Given the description of an element on the screen output the (x, y) to click on. 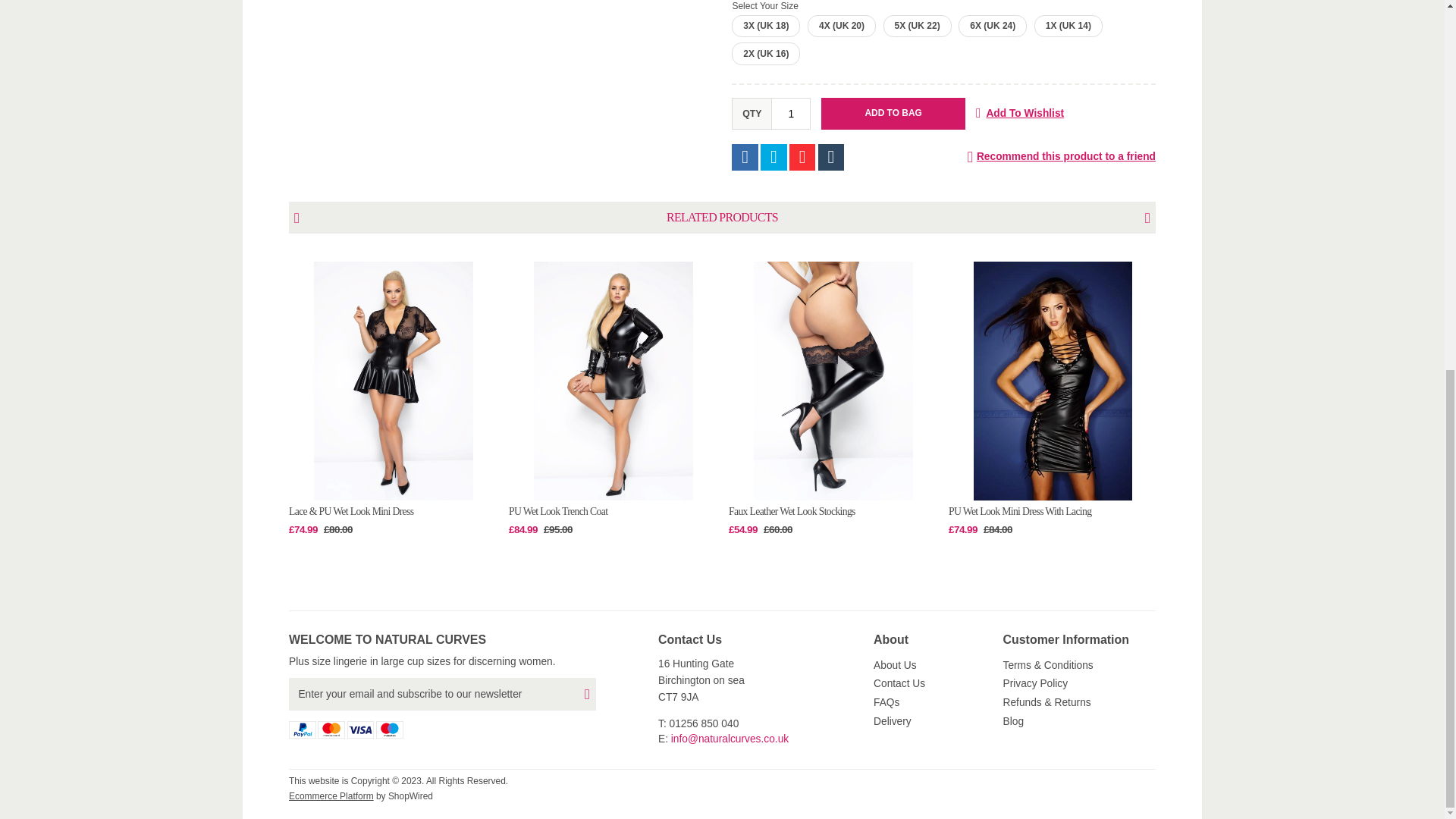
1 (790, 113)
